Given the description of an element on the screen output the (x, y) to click on. 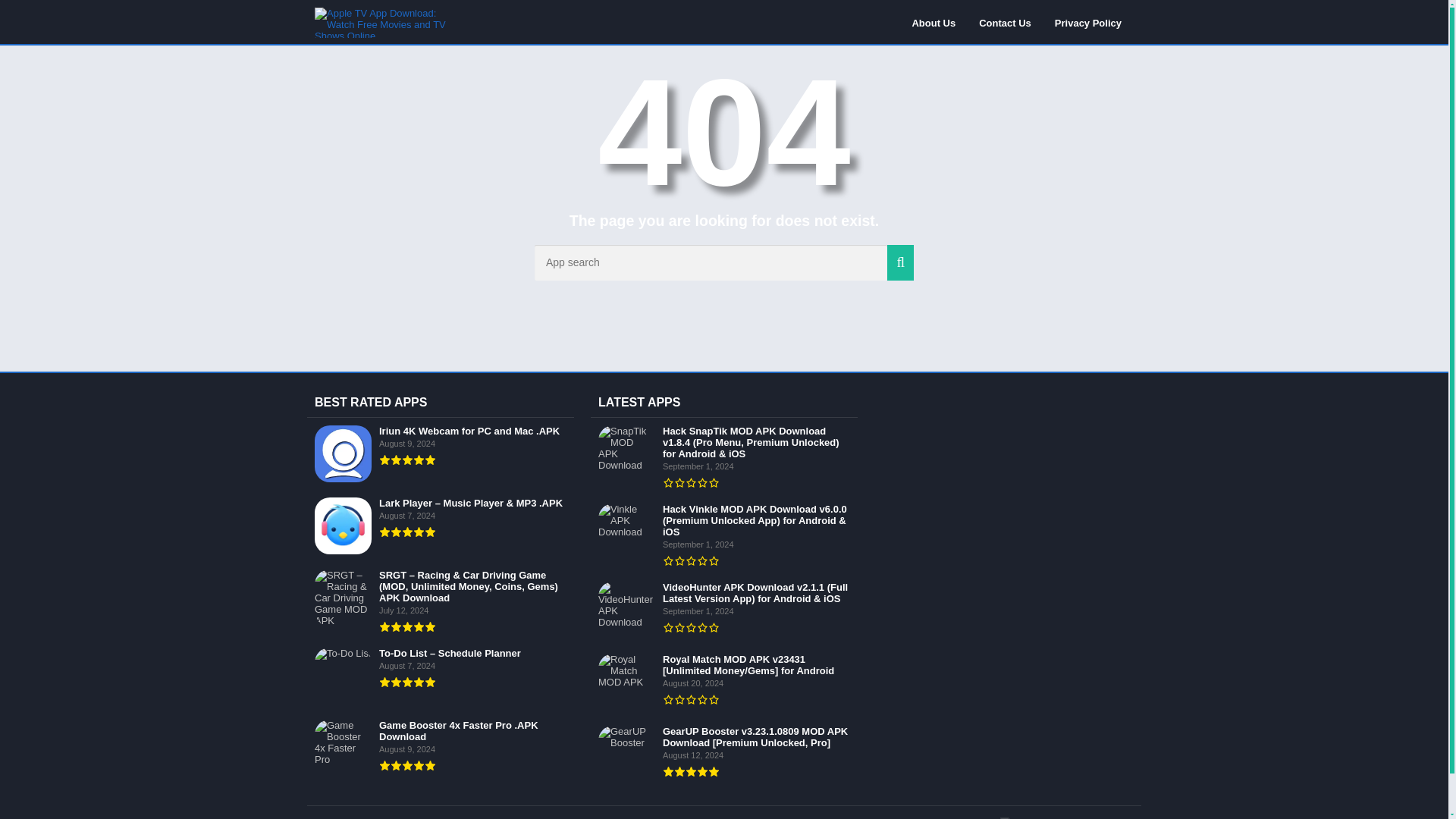
Privacy Policy (1087, 22)
About Us (932, 22)
Contact Us (1005, 22)
